Given the description of an element on the screen output the (x, y) to click on. 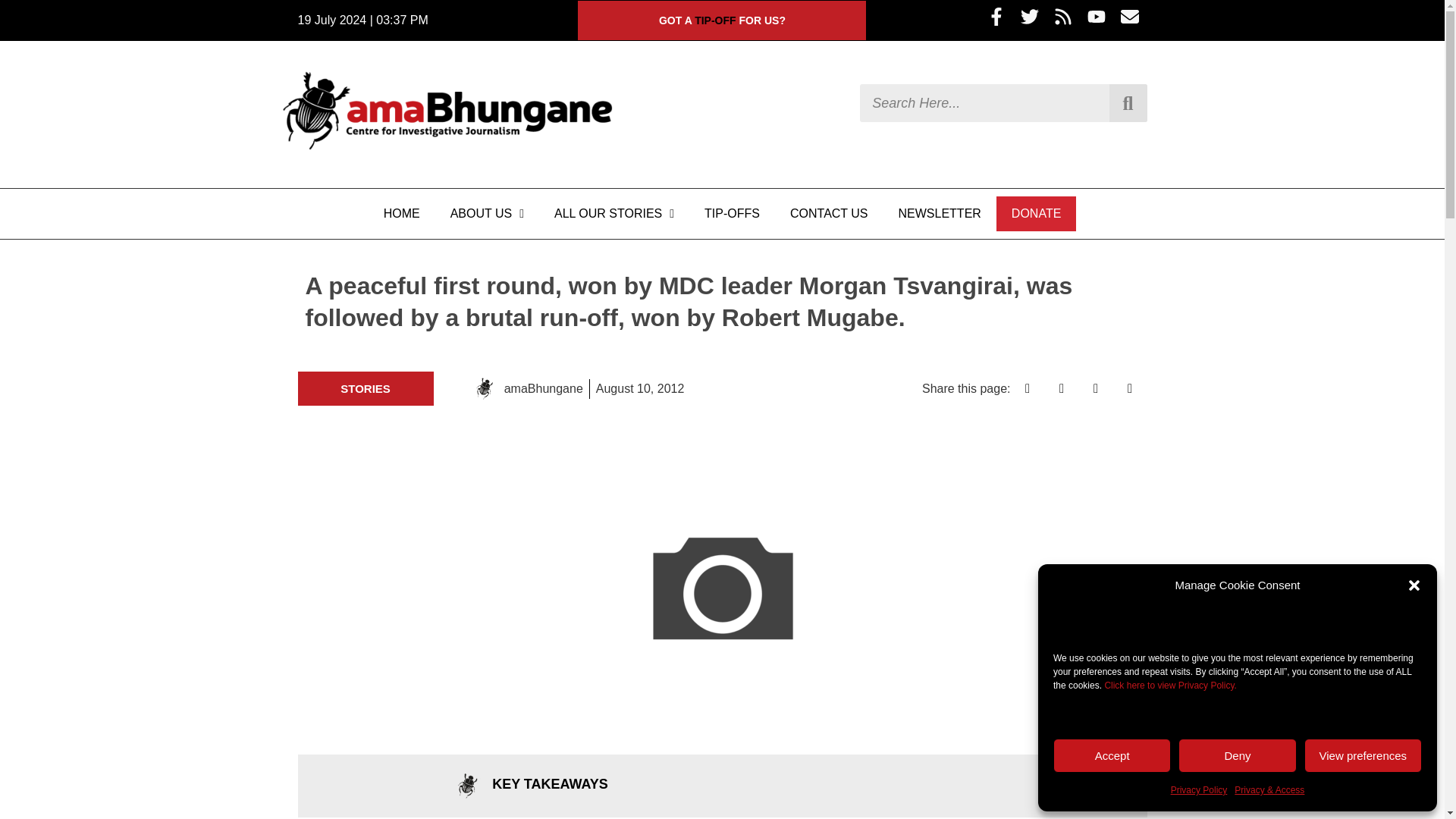
Accept (1111, 755)
Deny (1236, 755)
View preferences (1363, 755)
GOT A TIP-OFF FOR US? (722, 20)
Click here to view Privacy Policy. (1169, 685)
Privacy Policy (1198, 790)
